Given the description of an element on the screen output the (x, y) to click on. 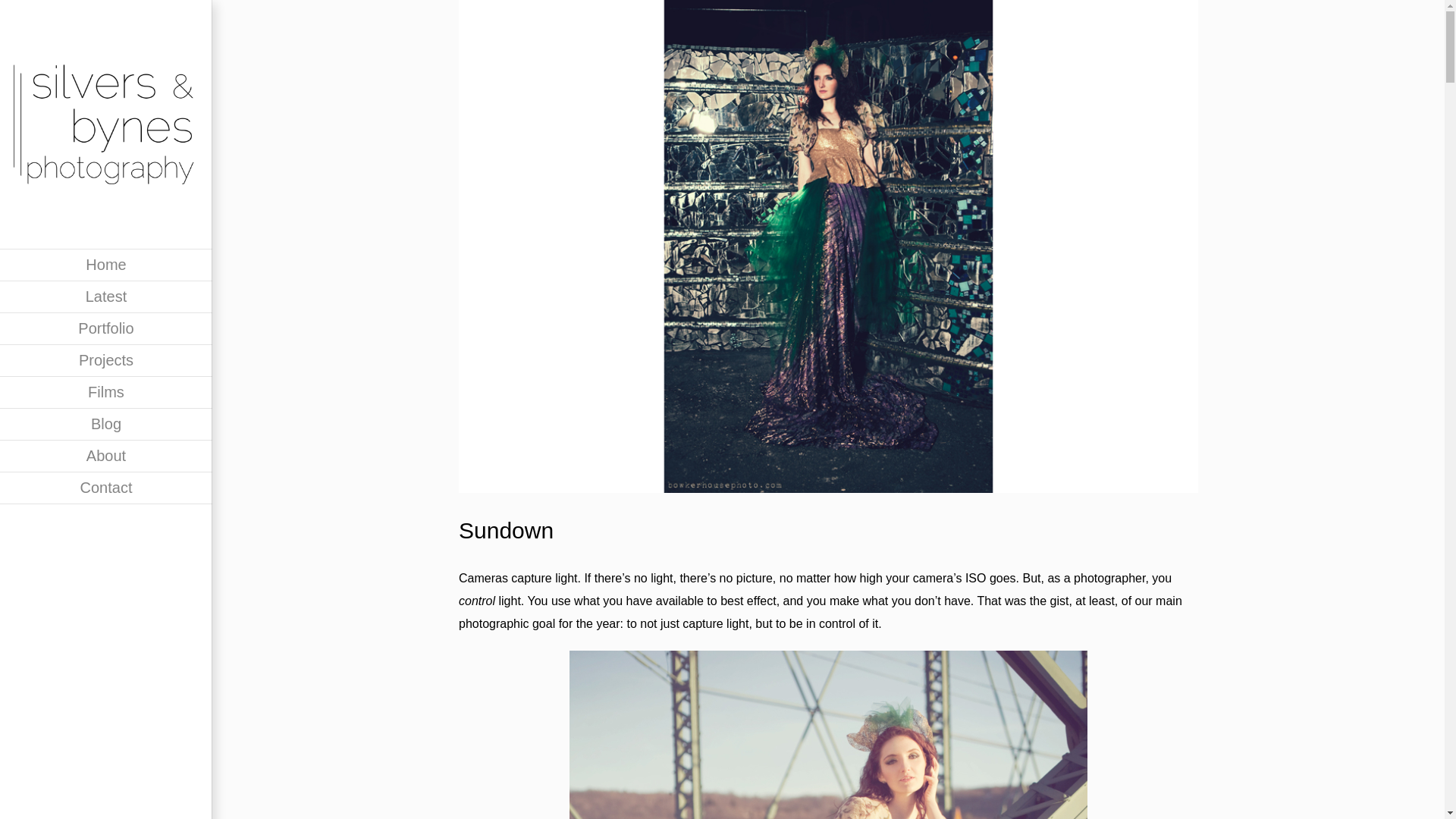
Contact (106, 488)
Projects (106, 360)
About (106, 456)
Home (106, 264)
Blog (106, 424)
Portfolio (106, 328)
Latest (106, 296)
Films (106, 392)
